Given the description of an element on the screen output the (x, y) to click on. 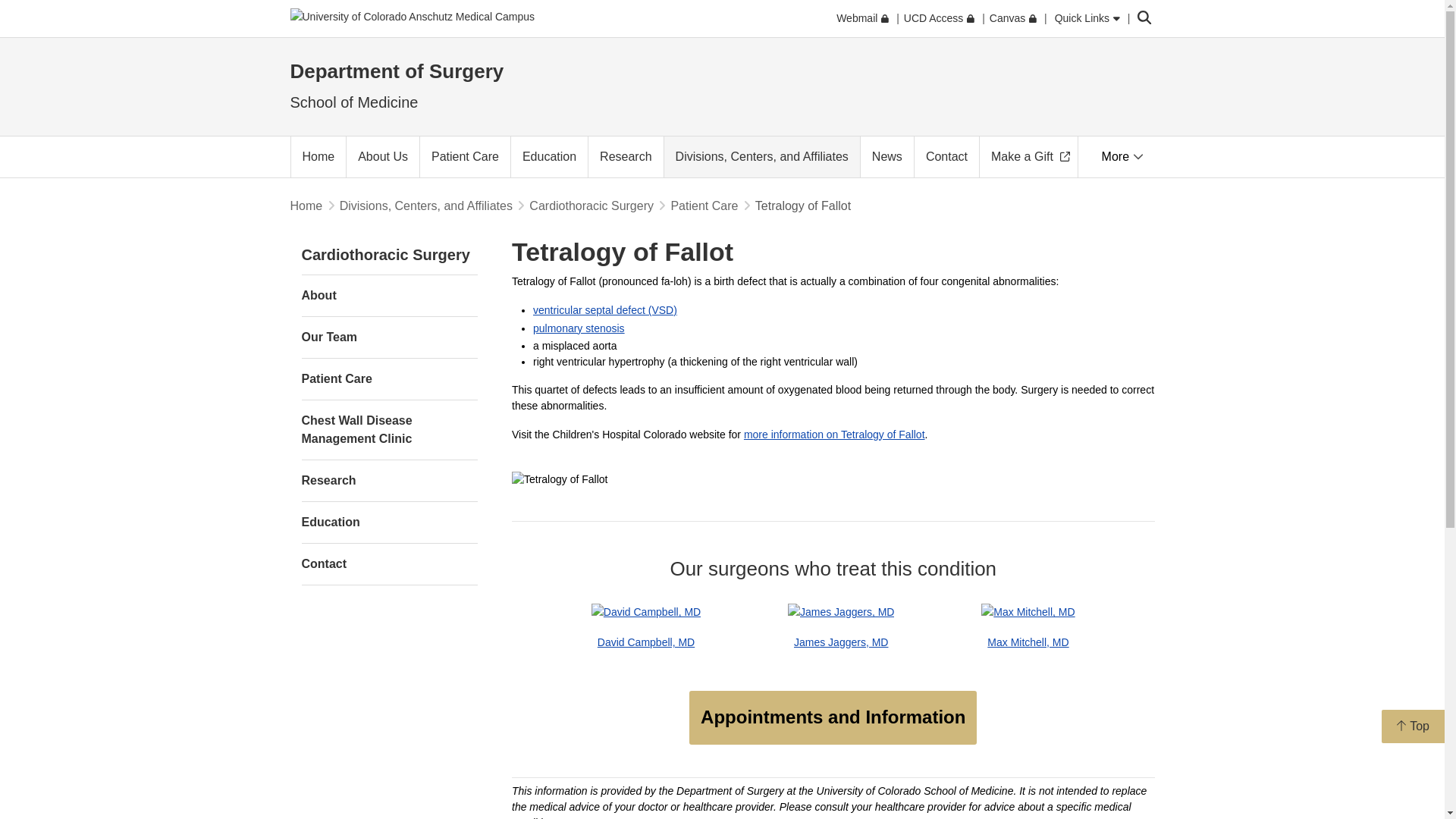
Canvas (1013, 18)
Quick Links (1086, 18)
Home (318, 156)
Divisions, Centers, and Affiliates (761, 156)
Patient Care (465, 156)
Max Mitchell, MD (1027, 612)
James Jaggers, MD (840, 612)
School of Medicine (353, 102)
About Us (382, 156)
David Campbell, MD (645, 612)
